Given the description of an element on the screen output the (x, y) to click on. 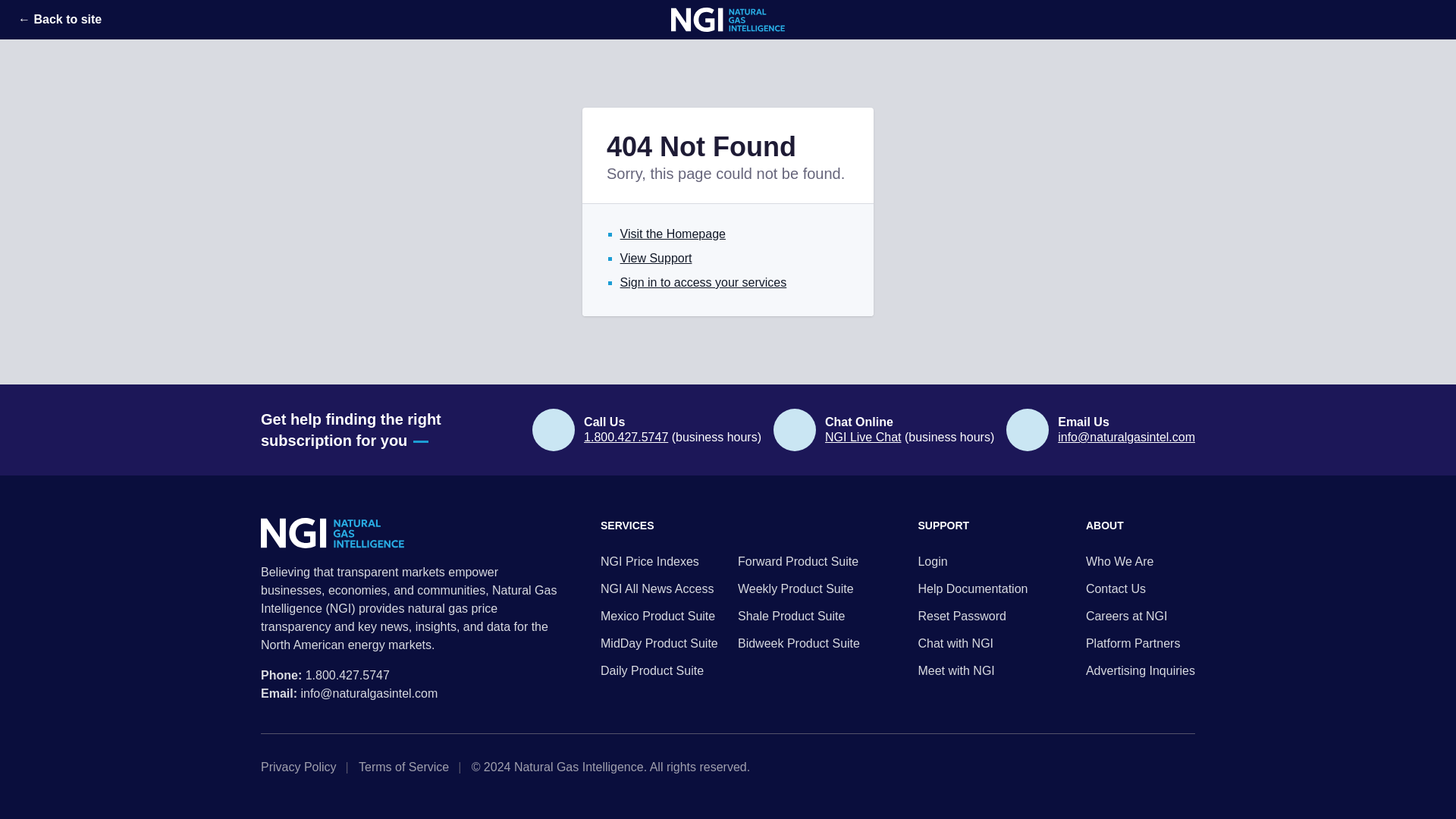
1.800.427.5747 (625, 436)
Mexico Product Suite (660, 616)
Forward Product Suite (799, 561)
Who We Are (1140, 561)
X (1140, 766)
Bidweek Product Suite (799, 643)
NGI Price Indexes (660, 561)
Privacy Policy (303, 766)
NGI All News Access (660, 588)
1.800.427.5747 (347, 675)
Meet with NGI (972, 670)
Login (972, 561)
Reset Password (972, 616)
Contact Us (1140, 588)
Visit the Homepage (672, 233)
